Given the description of an element on the screen output the (x, y) to click on. 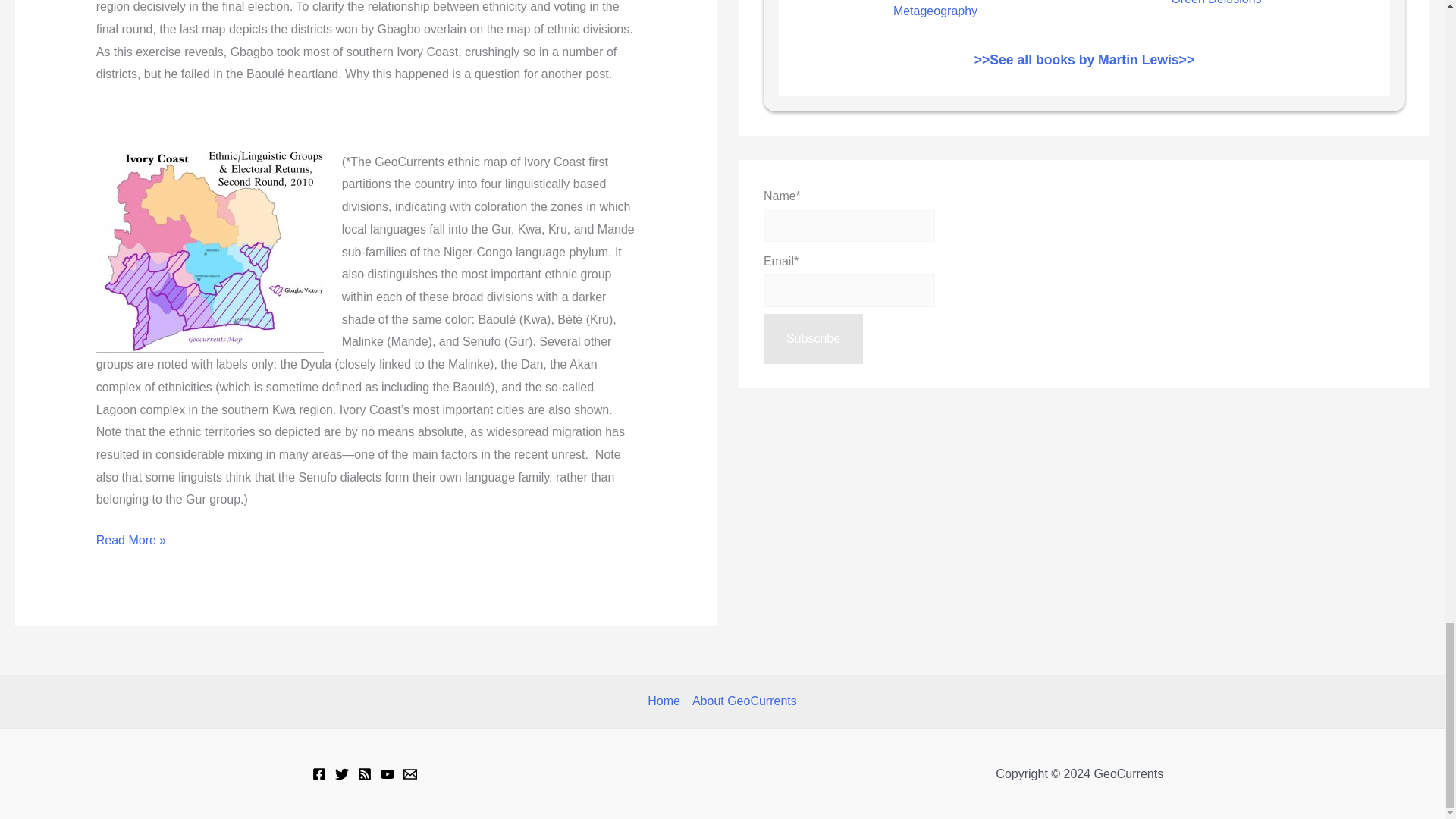
Subscribe (812, 338)
Ivory-Coast-ethnic-election2-map (209, 251)
